Given the description of an element on the screen output the (x, y) to click on. 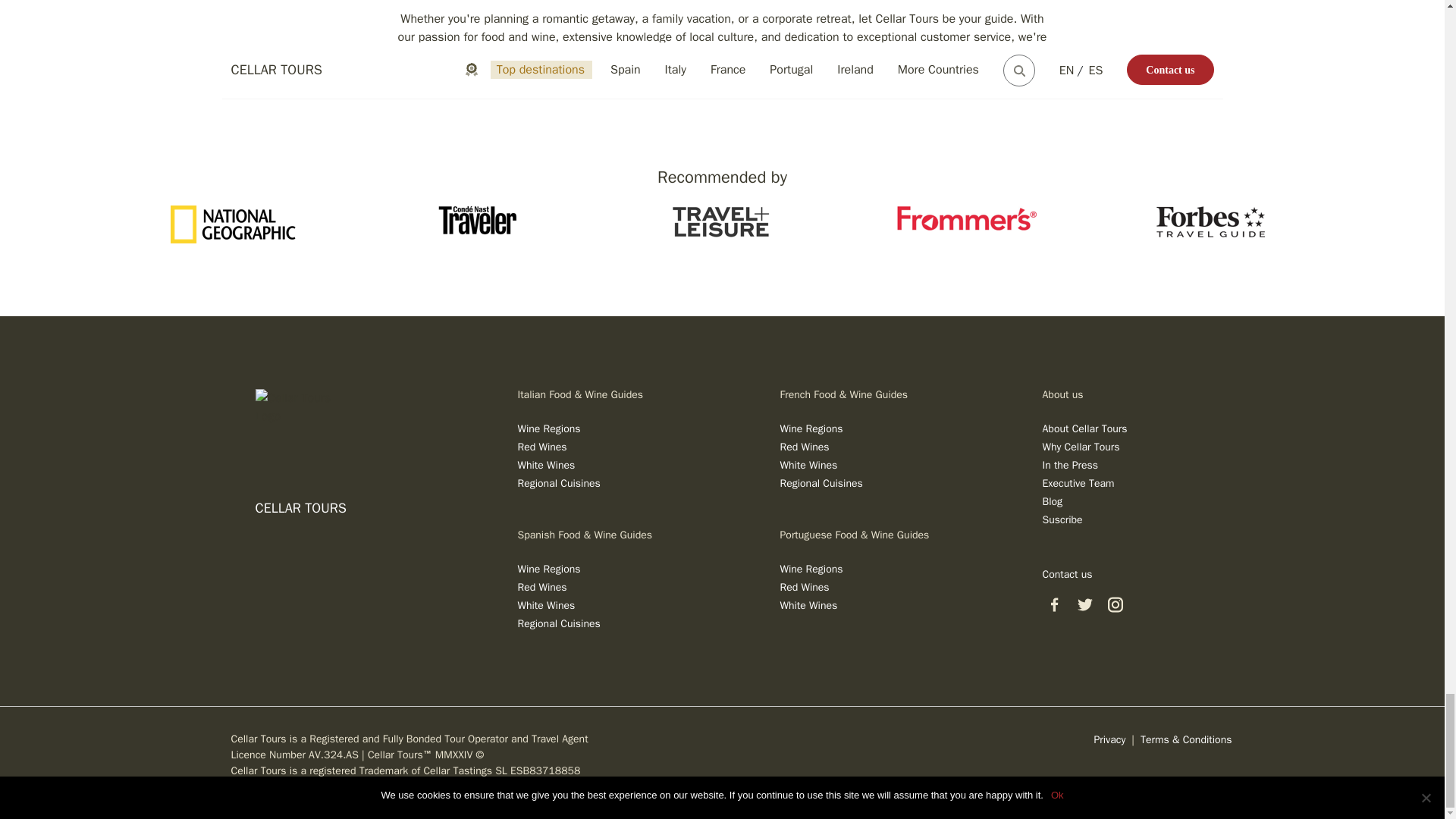
A Guide to Italian Wine Regions (547, 428)
A Guide to Italian Regional Cuisine (557, 482)
A Guide to French Regional Cuisine (819, 482)
A Guide to French White Wines (807, 464)
A Guide to Spanish White Wines (545, 604)
A Guide to Italian Red Wines (541, 446)
A Guide to Italian White Wines (545, 464)
A Guide to French Red Wines (803, 446)
A Guide to French Wine Regions (810, 428)
A Guide to Spanish Wine Regions (547, 568)
A Guide to Spanish Red Wines (541, 586)
A Guide to Spanish Regional Cuisine (557, 623)
